Given the description of an element on the screen output the (x, y) to click on. 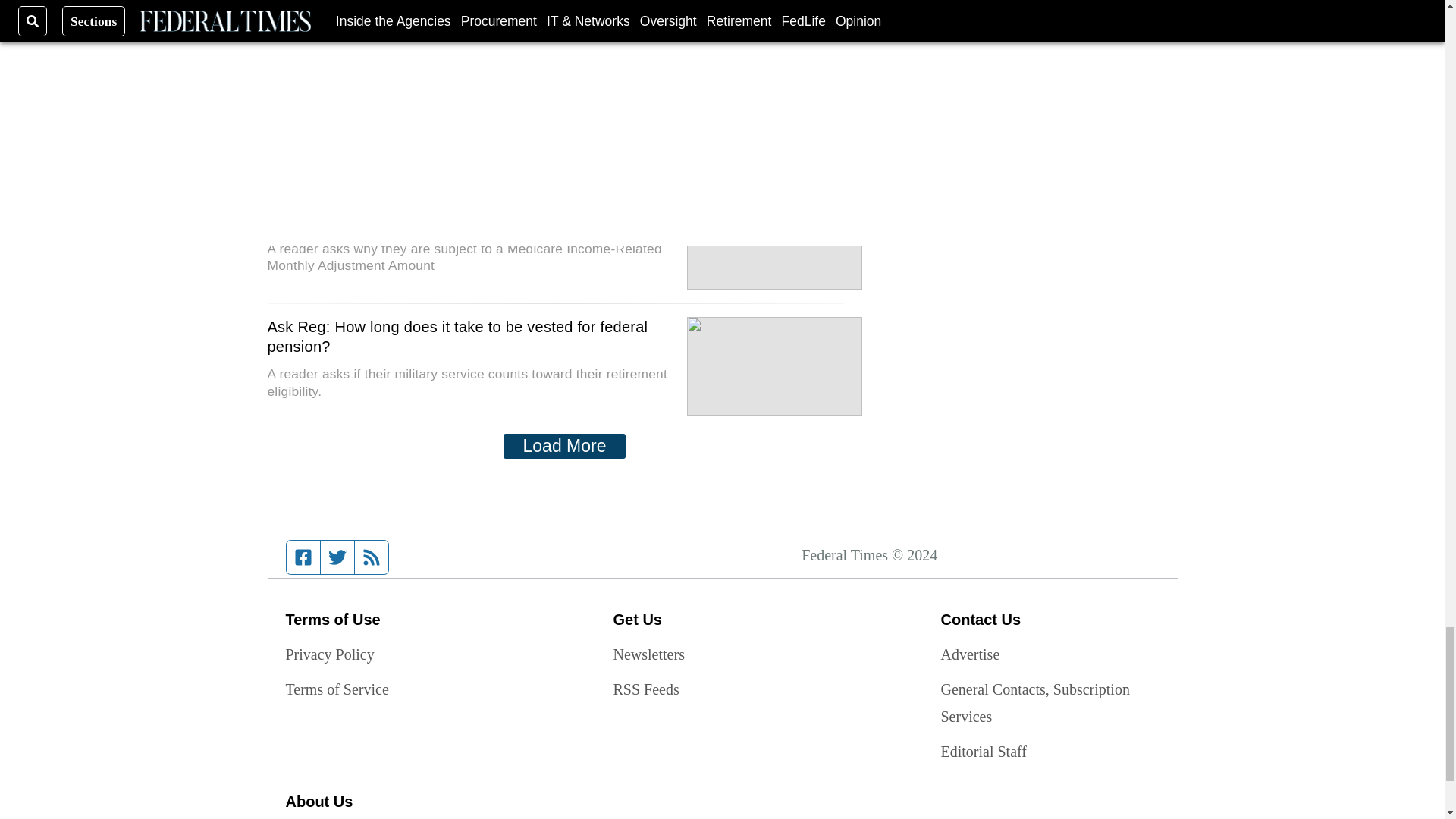
RSS feed (371, 557)
Twitter feed (336, 557)
Facebook page (303, 557)
